Given the description of an element on the screen output the (x, y) to click on. 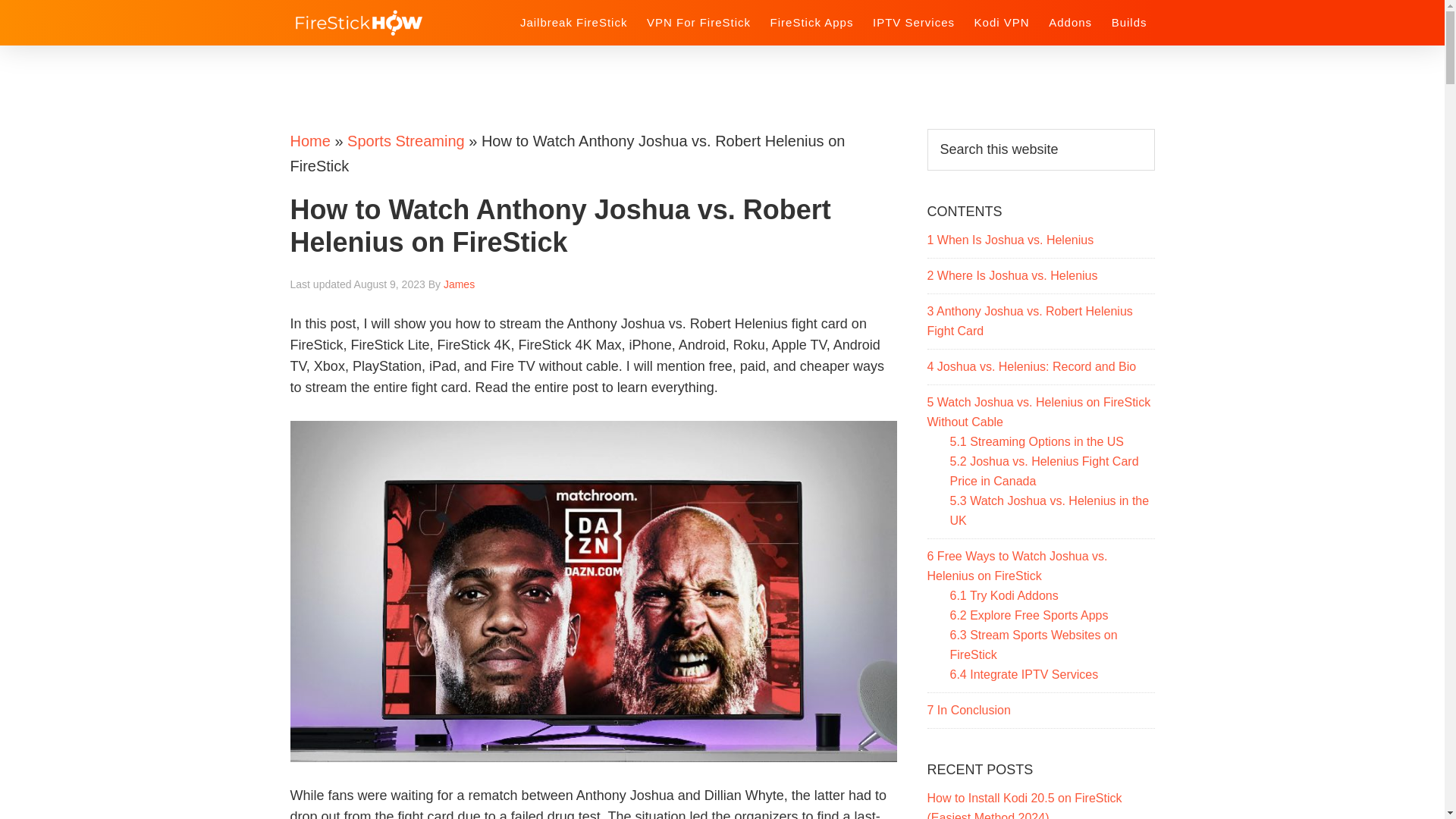
VPN For FireStick (698, 21)
IPTV Services (913, 21)
Sports Streaming (405, 140)
Builds (1128, 21)
Addons (1070, 21)
Fire Stick How (392, 22)
FireStick Apps (811, 21)
Jailbreak FireStick (573, 21)
Home (309, 140)
Kodi VPN (1001, 21)
James (459, 284)
